Given the description of an element on the screen output the (x, y) to click on. 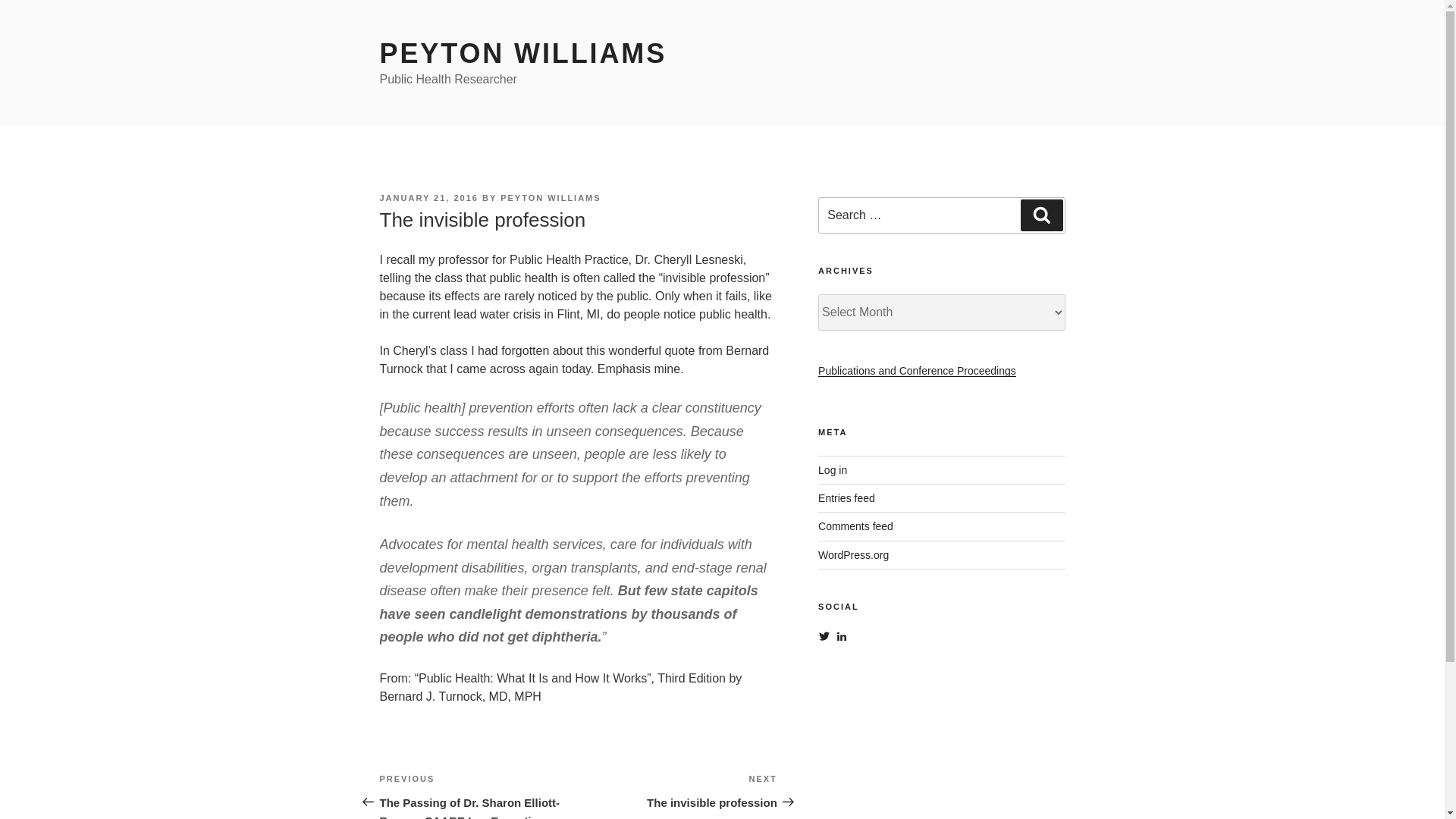
Publications and Conference Proceedings (917, 370)
PEYTON WILLIAMS (549, 197)
PEYTON WILLIAMS (522, 52)
Comments feed (855, 526)
Entries feed (677, 791)
Log in (846, 498)
WordPress.org (832, 469)
Search (853, 554)
